Given the description of an element on the screen output the (x, y) to click on. 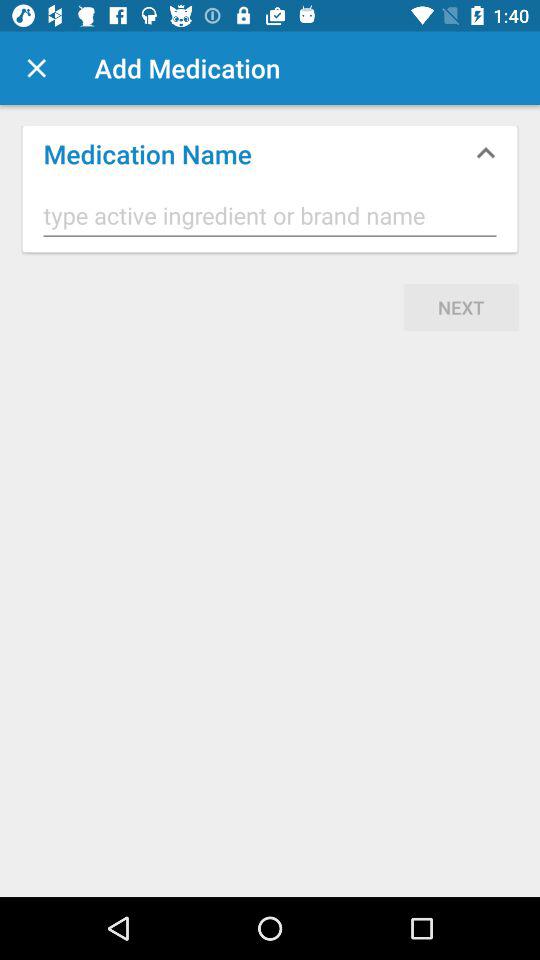
click item to the left of the add medication icon (36, 68)
